Given the description of an element on the screen output the (x, y) to click on. 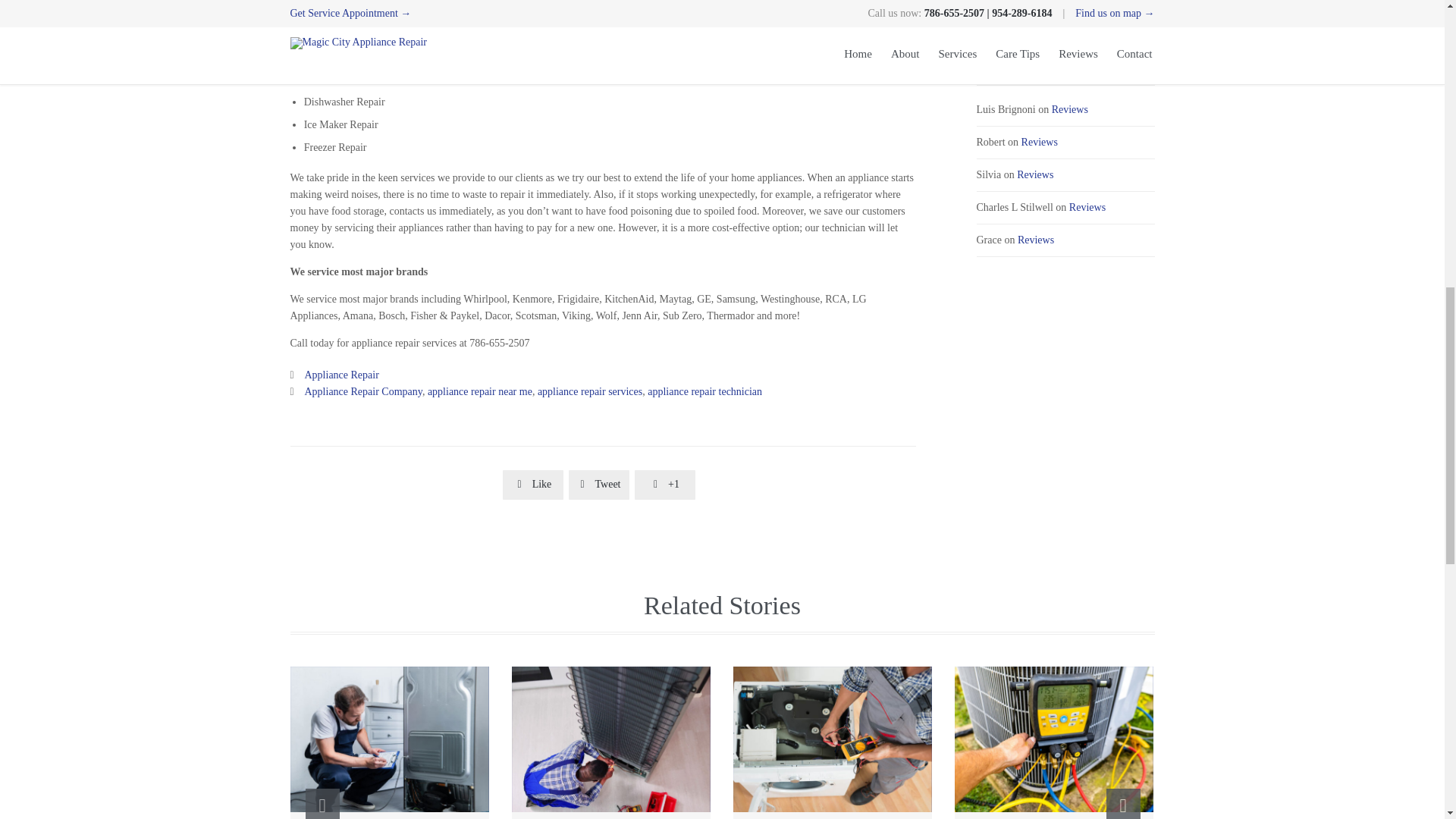
Appliance Repair Company (363, 391)
appliance repair services (589, 391)
Share on Facebook (532, 484)
appliance repair near me (480, 391)
Appliance Repair (341, 374)
